Given the description of an element on the screen output the (x, y) to click on. 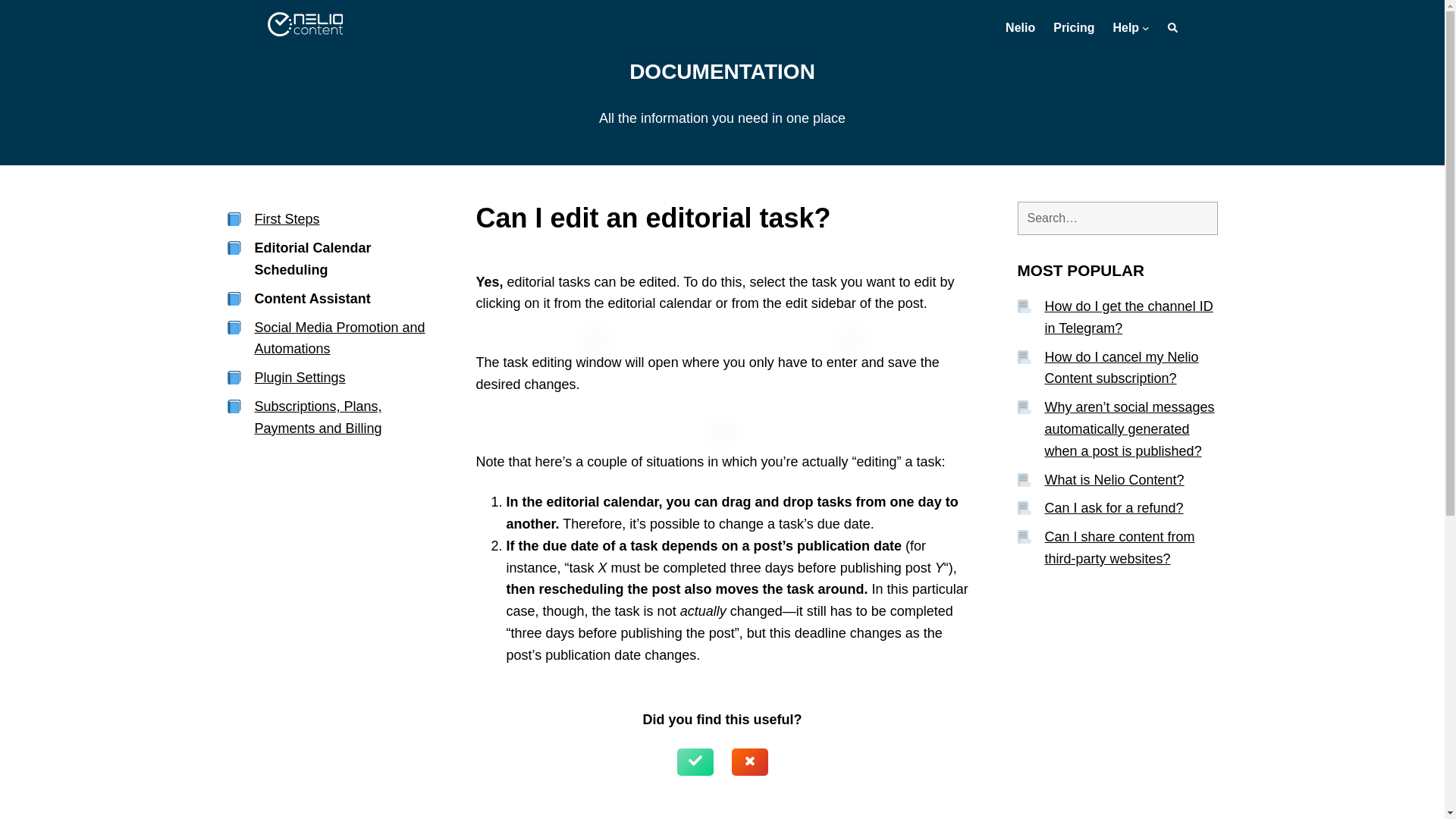
Editorial Calendar Scheduling (312, 258)
Nelio (1020, 27)
First Steps (287, 218)
How do I get the channel ID in Telegram? (1128, 316)
How do I cancel my Nelio Content subscription? (1121, 367)
Social Media Promotion and Automations (339, 338)
Can I share content from third-party websites? (1120, 547)
What is Nelio Content? (1115, 479)
Pricing (1073, 27)
Subscriptions, Plans, Payments and Billing (317, 416)
Can I ask for a refund? (1114, 507)
Content Assistant (312, 298)
Help (1125, 27)
Plugin Settings (300, 377)
Search (1172, 27)
